Given the description of an element on the screen output the (x, y) to click on. 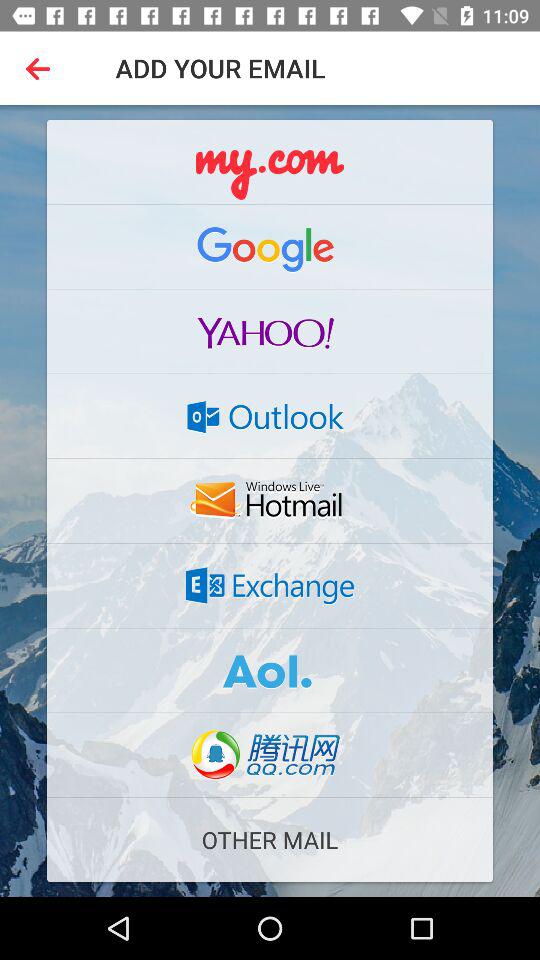
turn on the icon at the top left corner (41, 68)
